Given the description of an element on the screen output the (x, y) to click on. 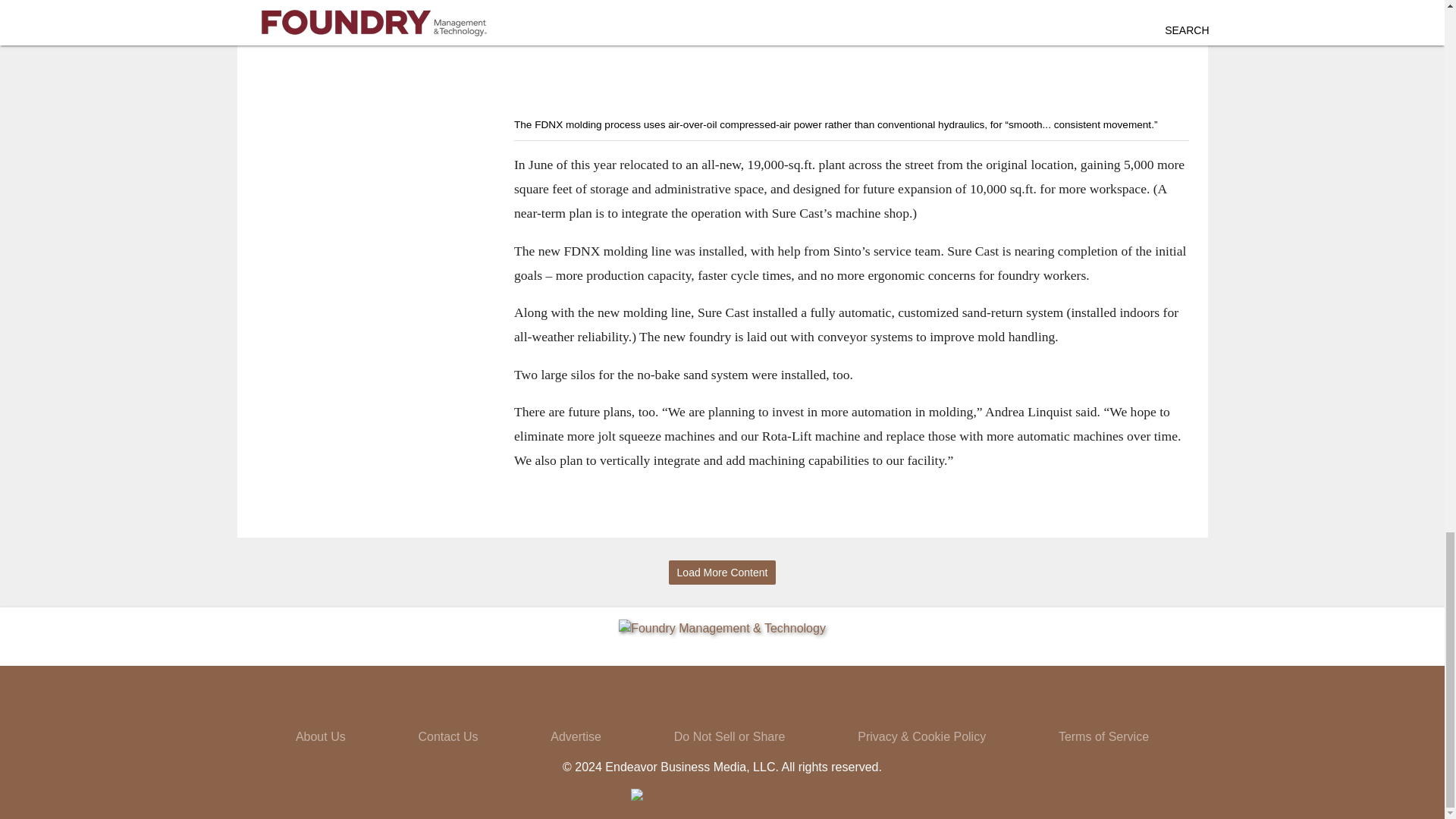
Load More Content (722, 572)
